Given the description of an element on the screen output the (x, y) to click on. 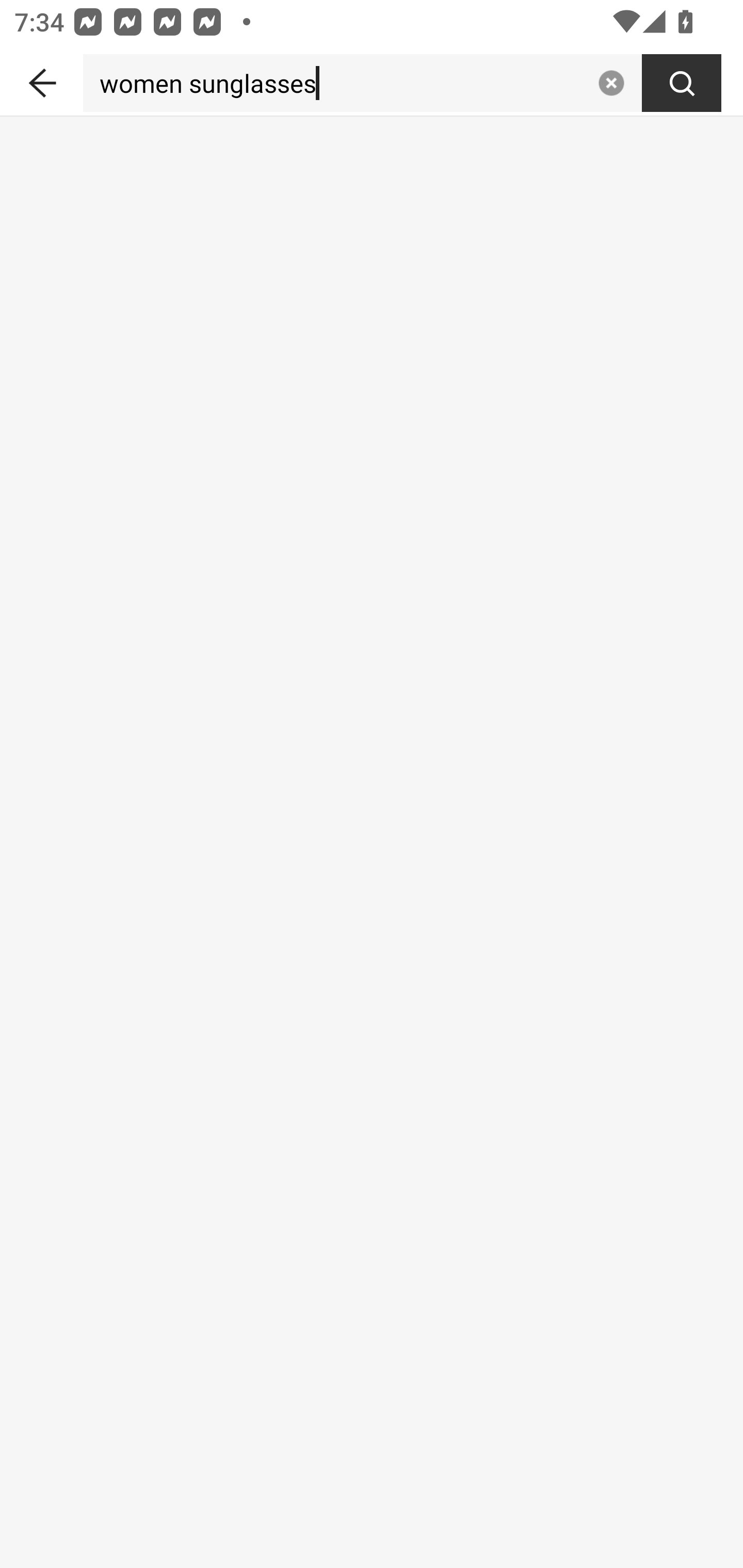
BACK (41, 79)
women sunglasses (336, 82)
Clear (610, 82)
